Given the description of an element on the screen output the (x, y) to click on. 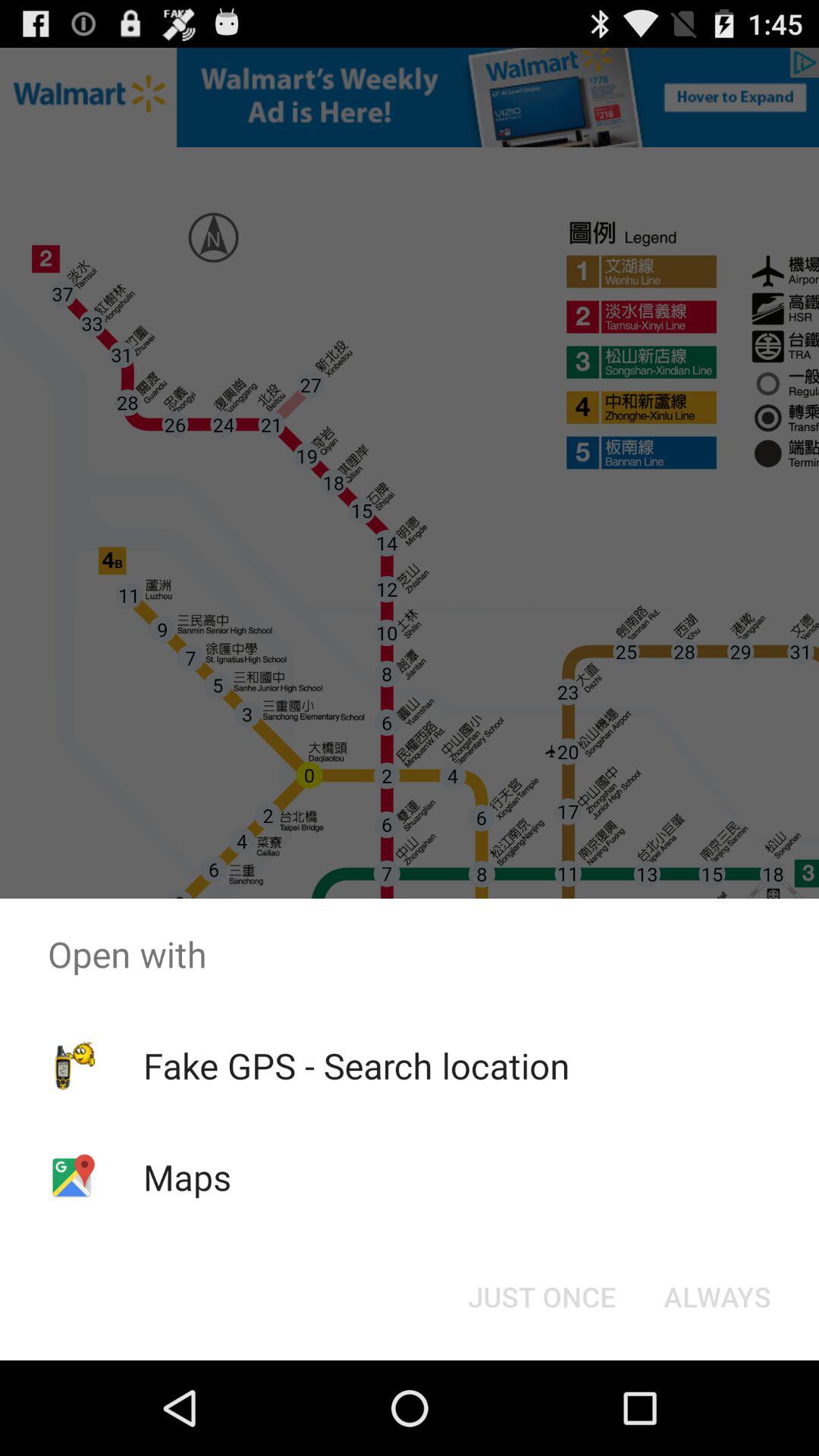
tap the always item (717, 1296)
